Given the description of an element on the screen output the (x, y) to click on. 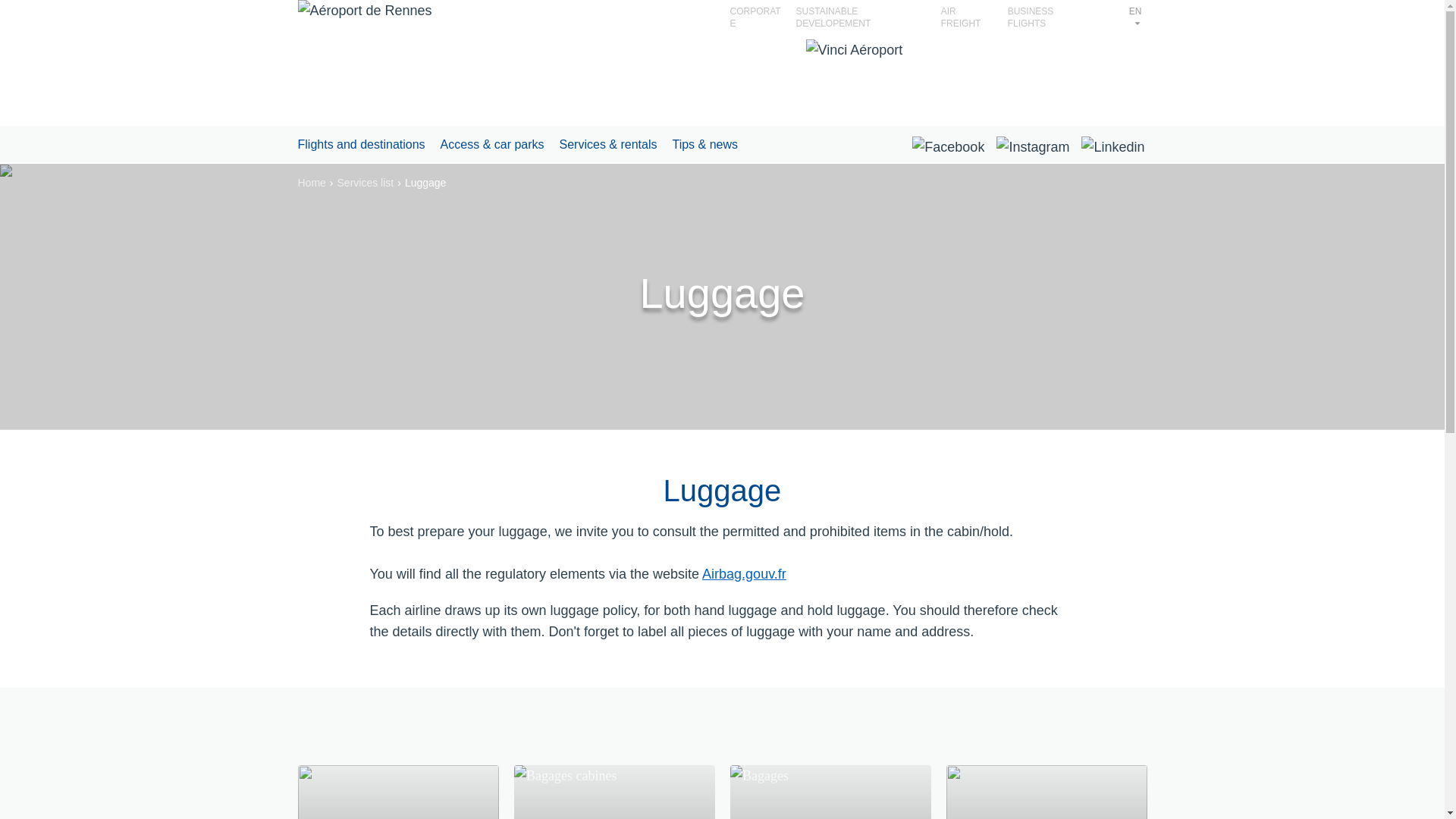
AIR FREIGHT (960, 16)
CORPORATE (754, 16)
Security Measures (1046, 791)
SUSTAINABLE DEVELOPEMENT (833, 16)
Hand Luggage (613, 791)
Flights and destinations (361, 144)
EN (1136, 16)
BUSINESS FLIGHTS (1030, 16)
Hold Luggage (397, 791)
Luggage Informations (829, 791)
